Given the description of an element on the screen output the (x, y) to click on. 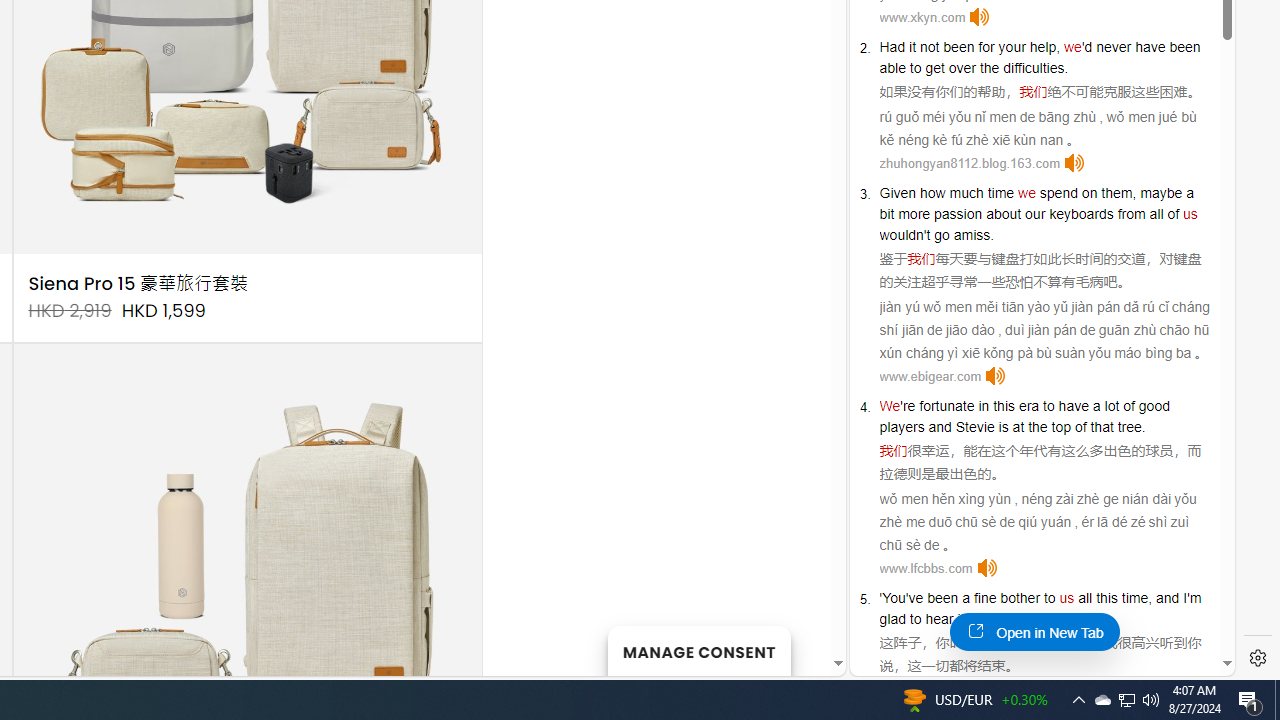
, (1150, 597)
the (989, 67)
to (1048, 405)
stop (1044, 619)
We (890, 405)
we (1026, 192)
not (929, 46)
You (893, 597)
www.lfcbbs.com (925, 568)
